Given the description of an element on the screen output the (x, y) to click on. 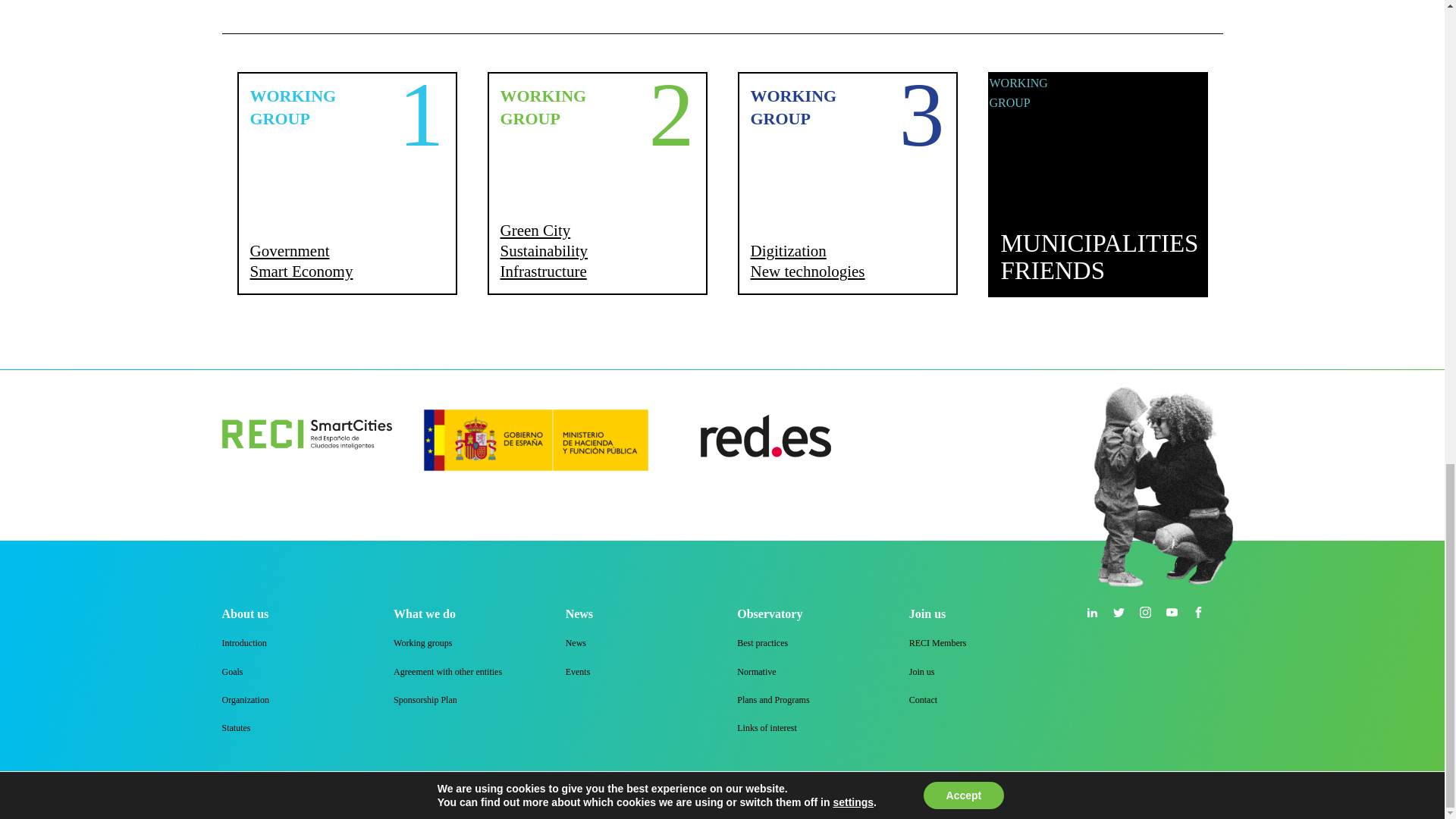
Working groups (1096, 184)
Agreement with other entities (422, 643)
Organization (846, 183)
Goals (447, 672)
Introduction (346, 183)
Statutes (245, 700)
